Given the description of an element on the screen output the (x, y) to click on. 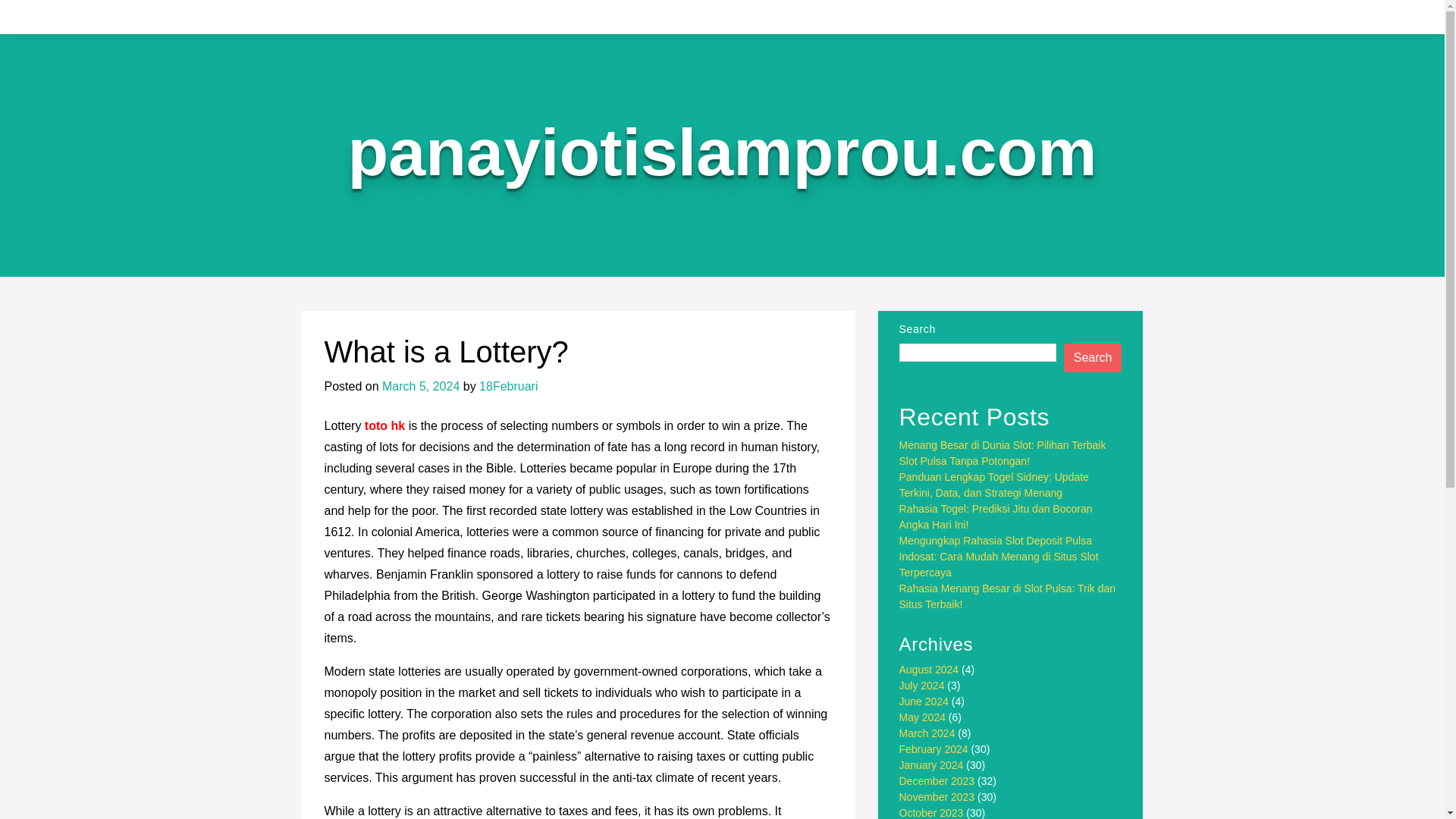
March 2024 (927, 733)
Rahasia Menang Besar di Slot Pulsa: Trik dan Situs Terbaik! (1007, 596)
May 2024 (921, 717)
June 2024 (924, 701)
August 2024 (929, 669)
November 2023 (937, 797)
October 2023 (931, 812)
Rahasia Togel: Prediksi Jitu dan Bocoran Angka Hari Ini! (996, 516)
